Given the description of an element on the screen output the (x, y) to click on. 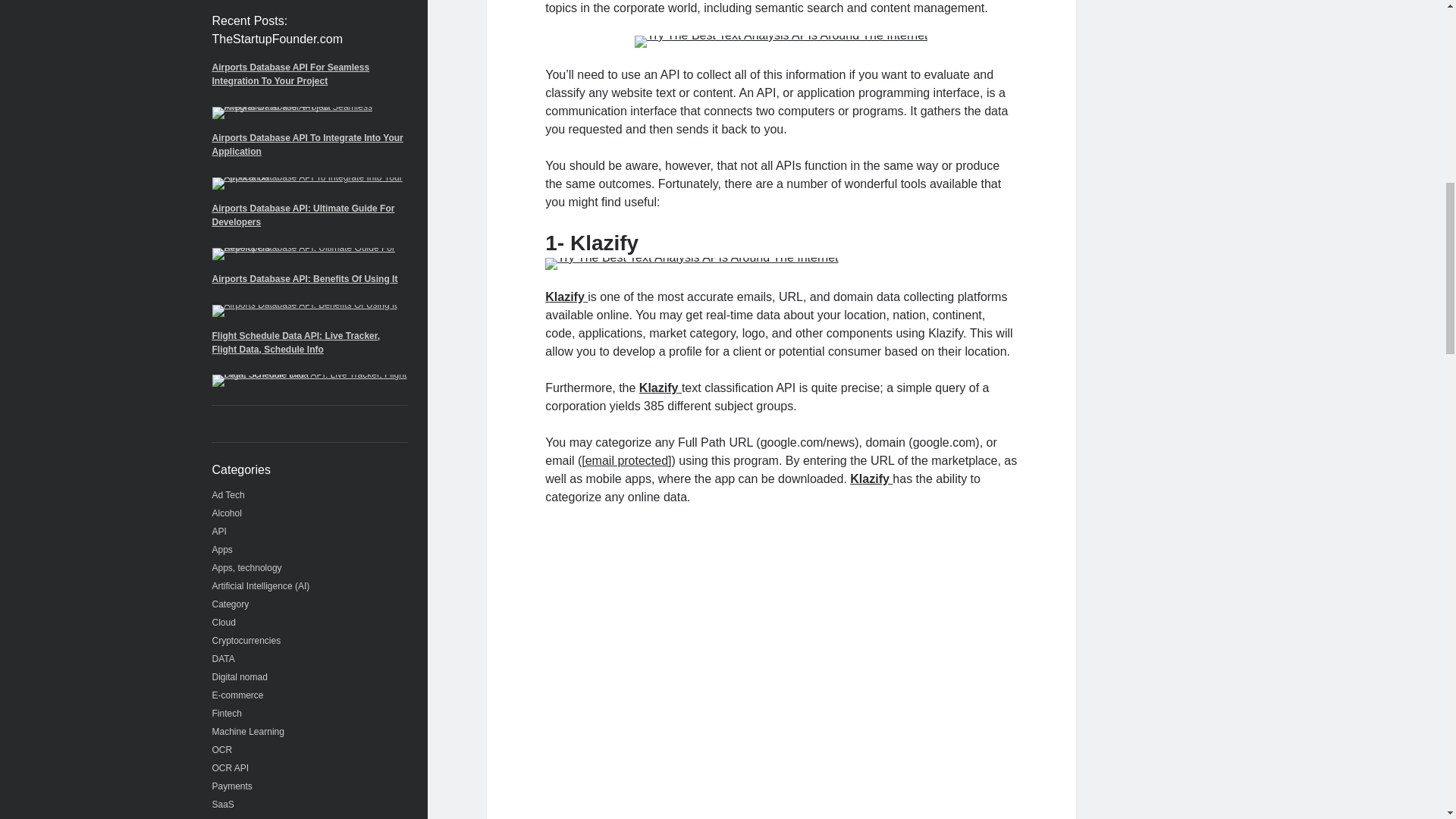
Airports Database API To Integrate Into Your Application (307, 144)
Airports Database API: Benefits Of Using It (304, 278)
Alcohol (226, 512)
Airports Database API: Ultimate Guide For Developers (303, 215)
Ad Tech (228, 494)
